Given the description of an element on the screen output the (x, y) to click on. 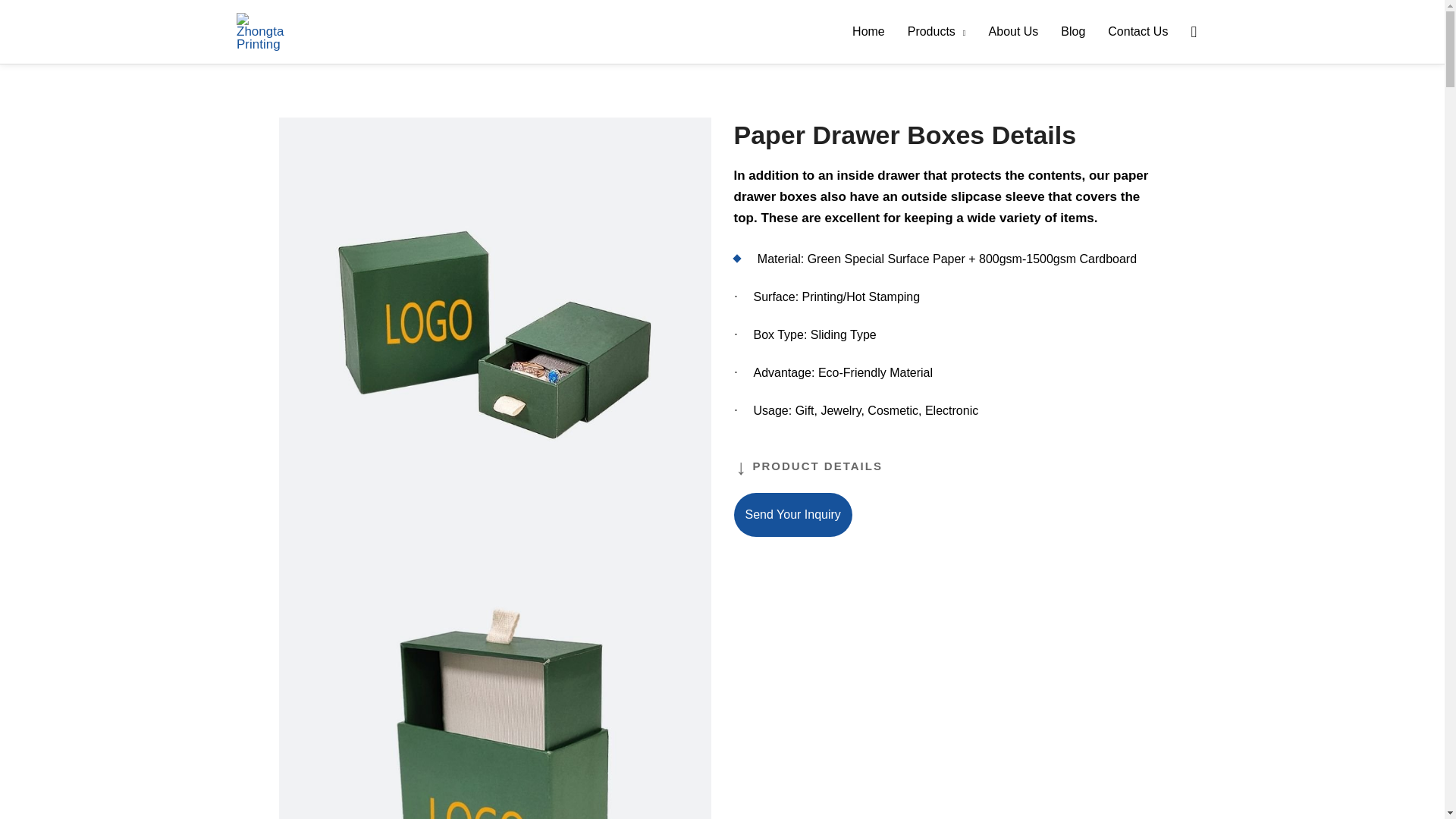
Products (936, 31)
